Given the description of an element on the screen output the (x, y) to click on. 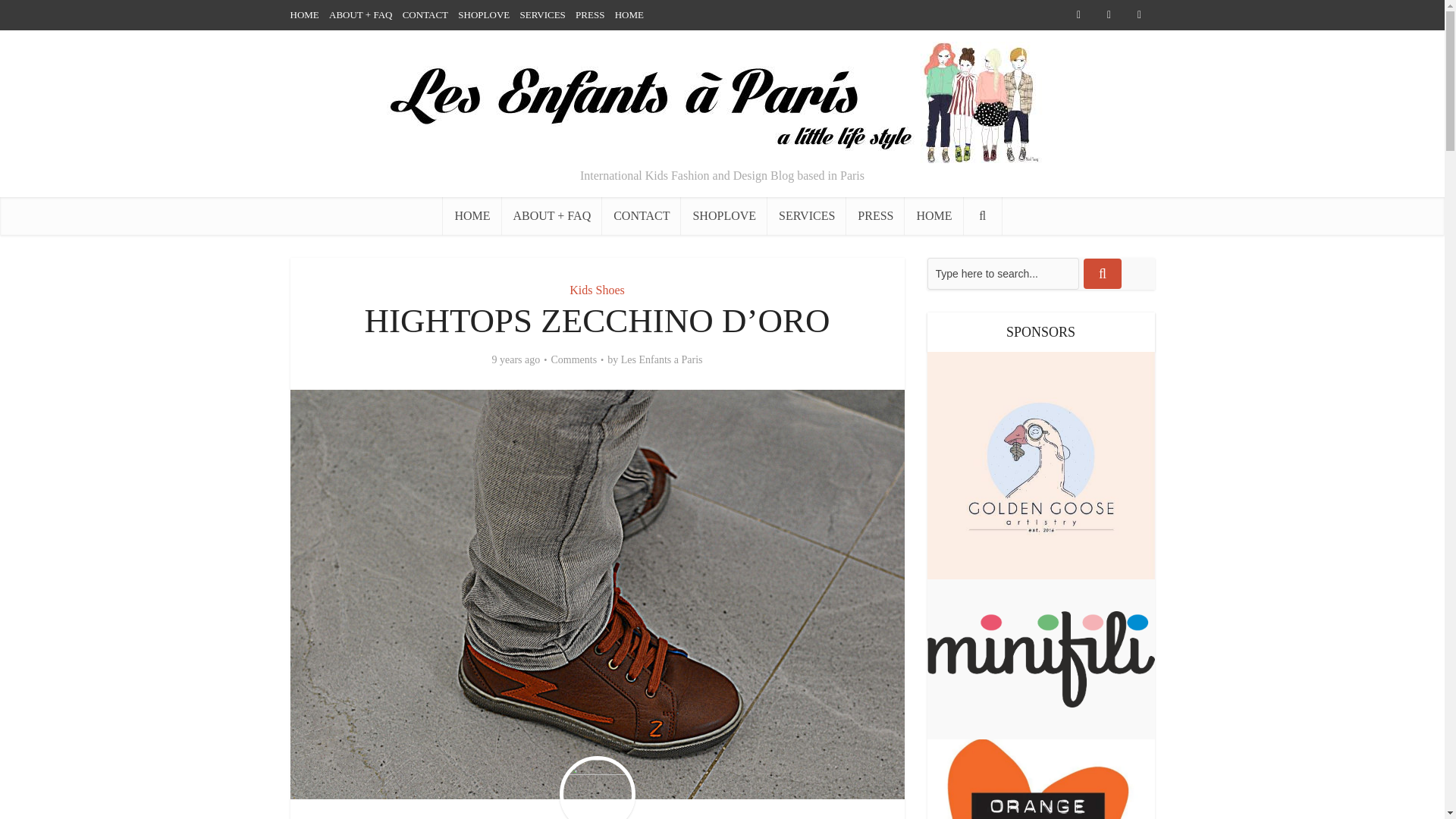
PRESS (874, 216)
SHOPLOVE (483, 14)
Comments (573, 359)
SERVICES (806, 216)
CONTACT (641, 216)
CONTACT (425, 14)
HOME (471, 216)
HOME (303, 14)
HOME (933, 216)
Les Enfants a Paris (662, 359)
SERVICES (541, 14)
Type here to search... (1002, 273)
Type here to search... (1002, 273)
SHOPLOVE (724, 216)
PRESS (589, 14)
